Given the description of an element on the screen output the (x, y) to click on. 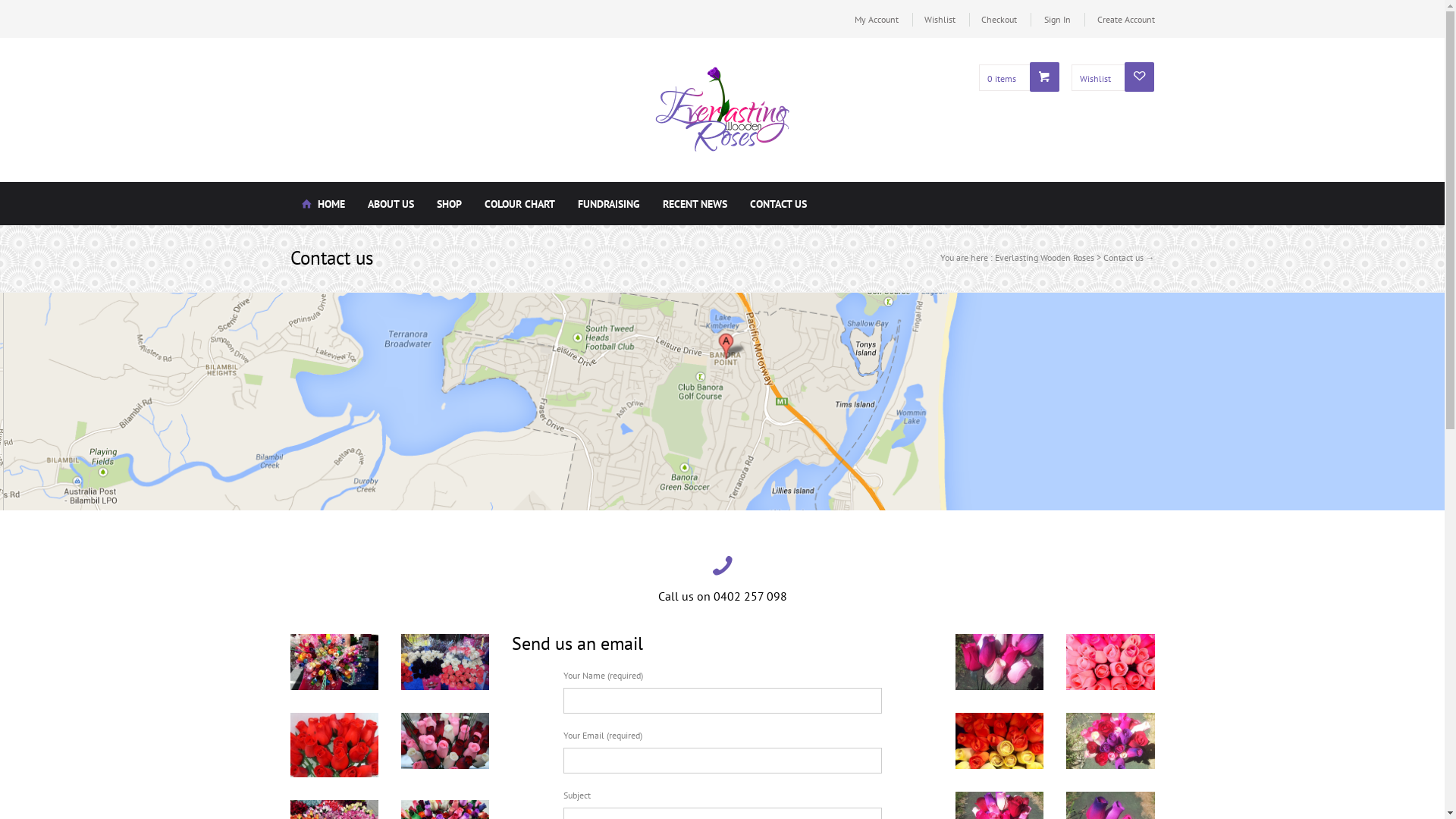
ABOUT US Element type: text (390, 203)
FUNDRAISING Element type: text (607, 203)
SHOP Element type: text (448, 203)
Everlasting Wooden Roses Element type: text (1044, 257)
Wishlist Element type: text (946, 18)
Sign In Element type: text (1063, 18)
My Account Element type: text (882, 18)
Create Account Element type: text (1125, 18)
Checkout Element type: text (1006, 18)
RECENT NEWS Element type: text (693, 203)
HOME Element type: text (322, 203)
CONTACT US Element type: text (778, 203)
COLOUR CHART Element type: text (519, 203)
